Given the description of an element on the screen output the (x, y) to click on. 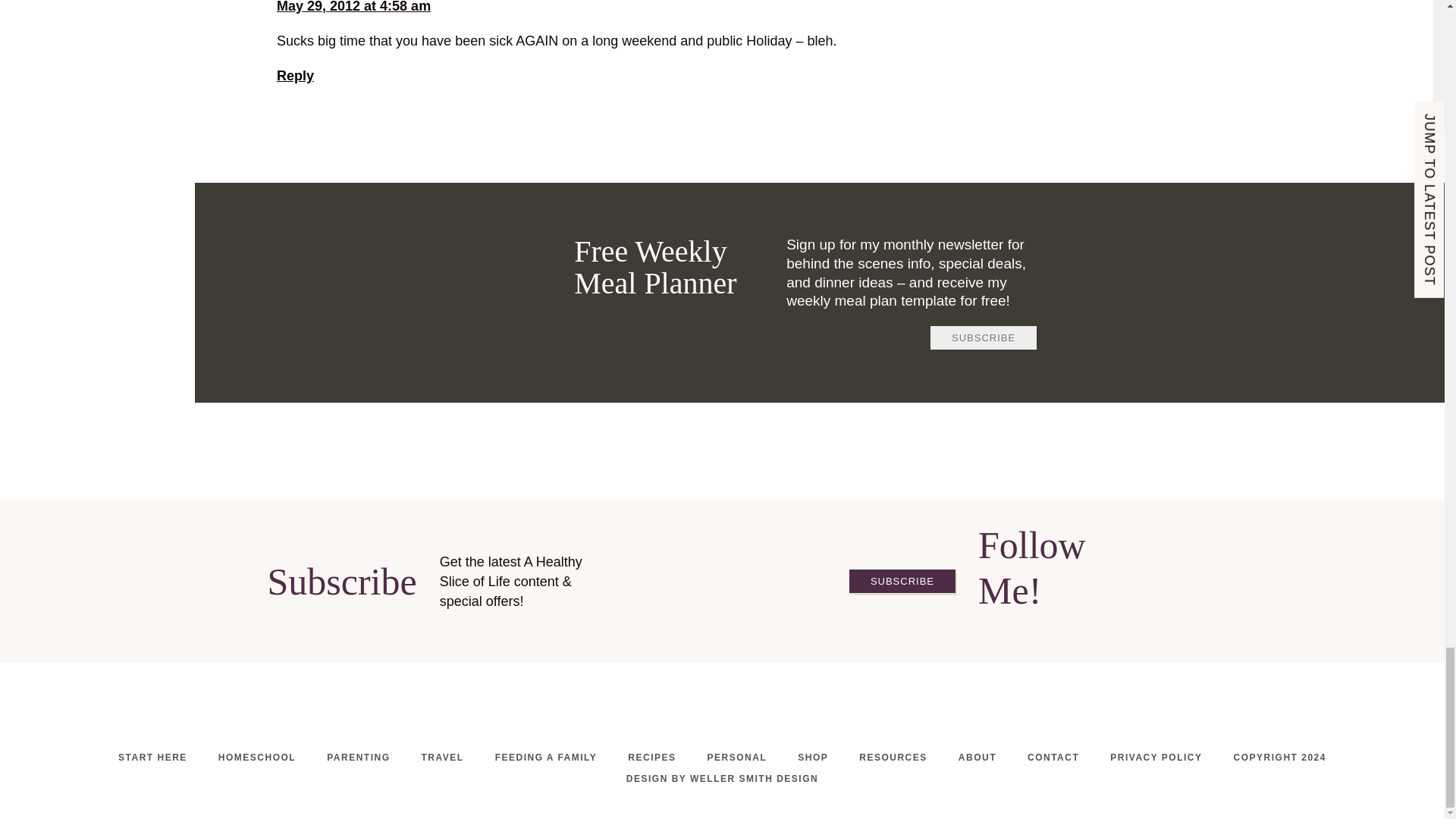
instagram (1030, 627)
pinterest (1101, 627)
instagram (722, 718)
facebook (1065, 627)
facebook (686, 718)
